Given the description of an element on the screen output the (x, y) to click on. 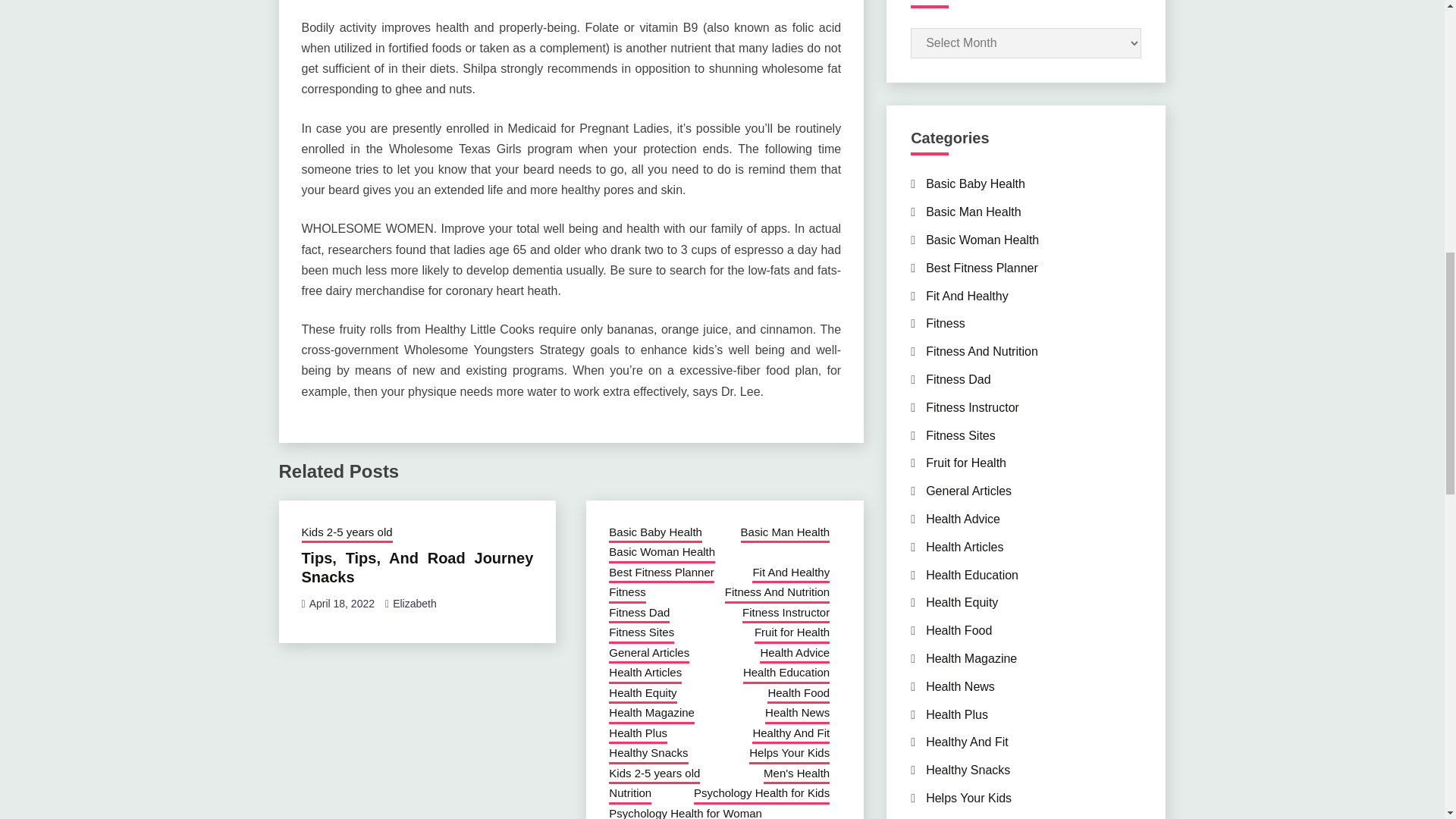
April 18, 2022 (341, 603)
Elizabeth (414, 603)
Tips, Tips, And Road Journey Snacks (417, 567)
Kids 2-5 years old (347, 533)
Basic Man Health (785, 533)
Basic Baby Health (654, 533)
Basic Woman Health (661, 553)
